Given the description of an element on the screen output the (x, y) to click on. 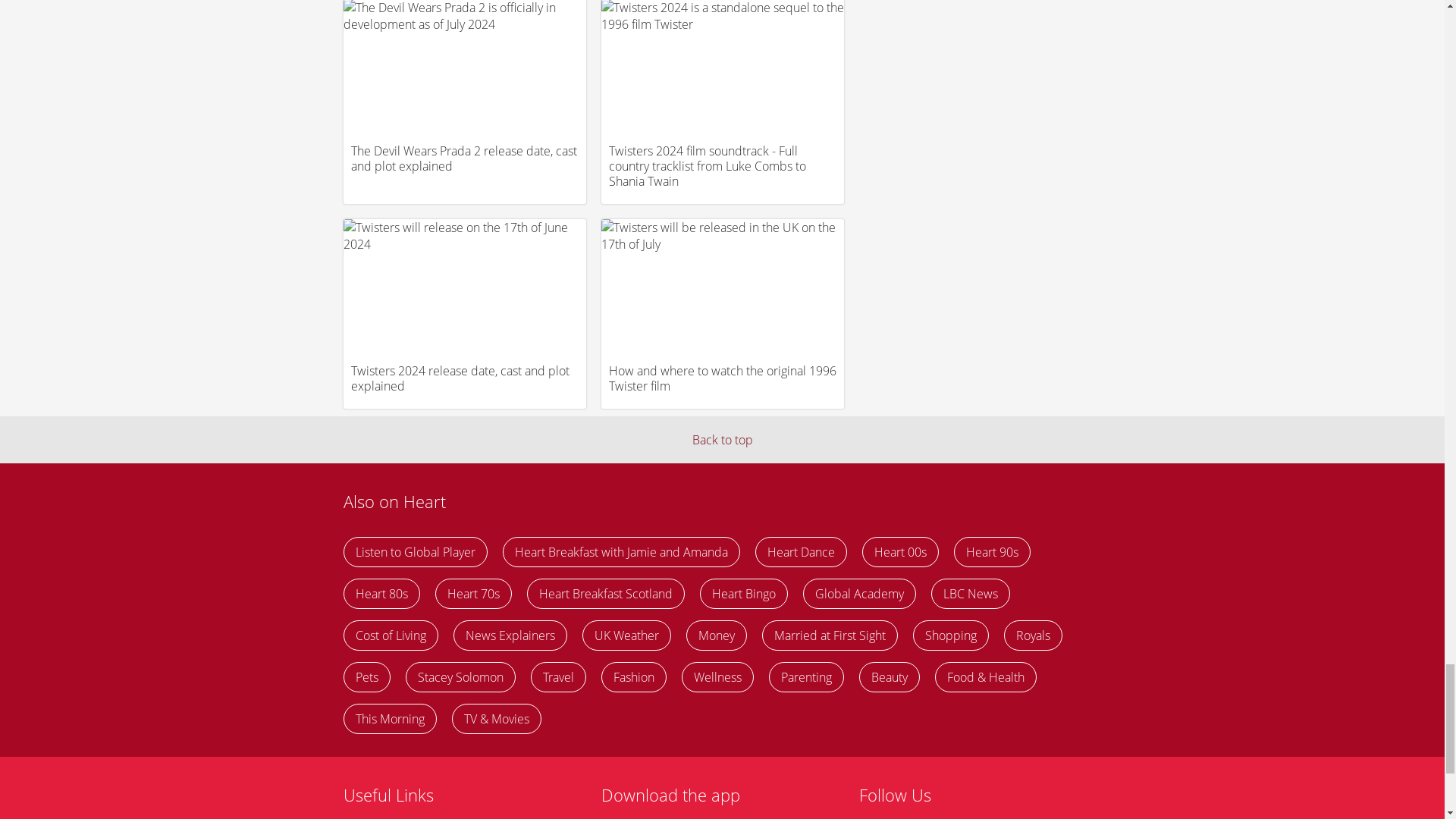
Back to top (721, 439)
